Given the description of an element on the screen output the (x, y) to click on. 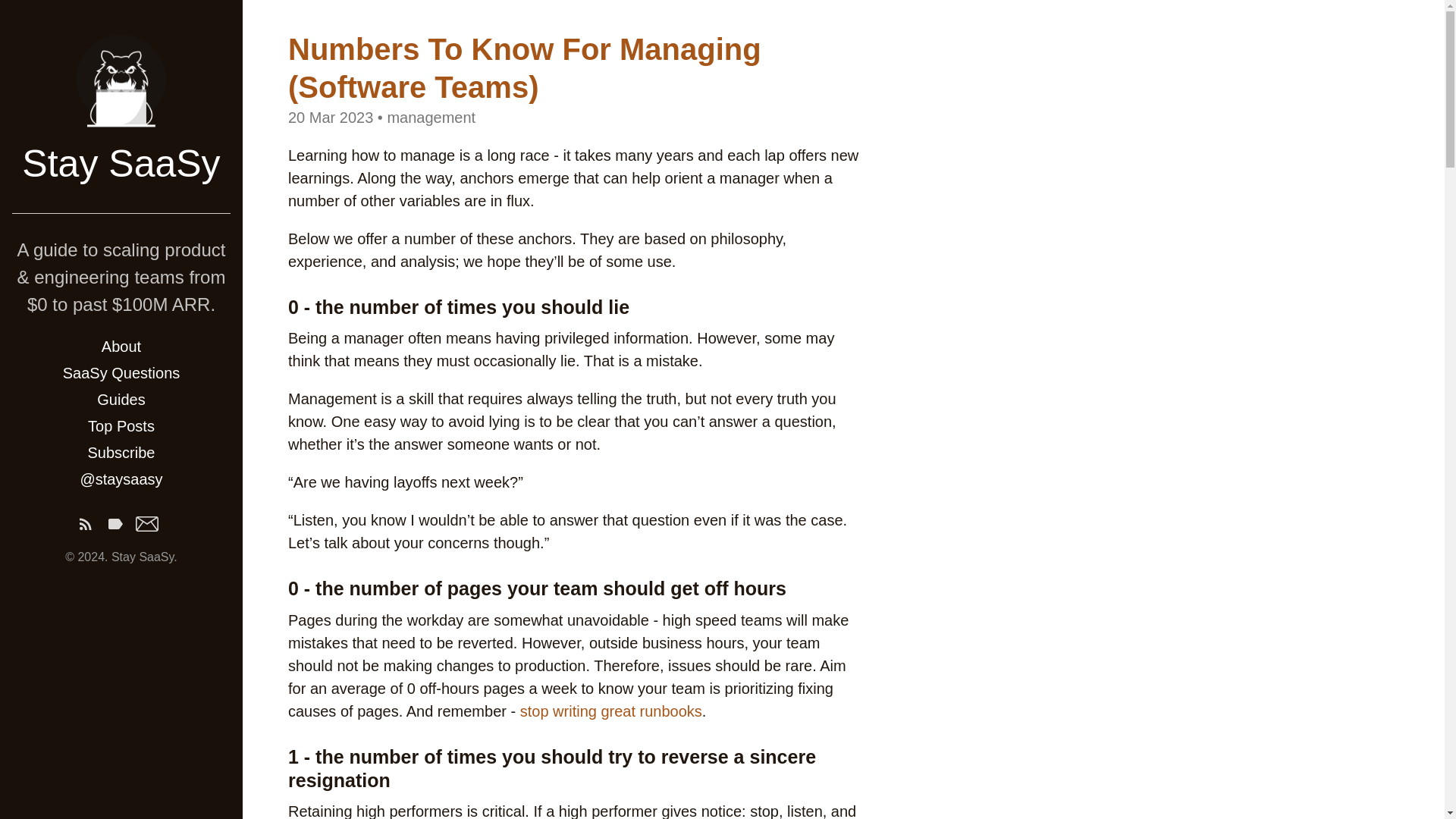
stop writing great runbooks (610, 710)
Guides (120, 399)
Stay SaaSy (120, 163)
About (120, 346)
Subscribe (120, 452)
SaaSy Questions (120, 373)
Top Posts (120, 426)
